Given the description of an element on the screen output the (x, y) to click on. 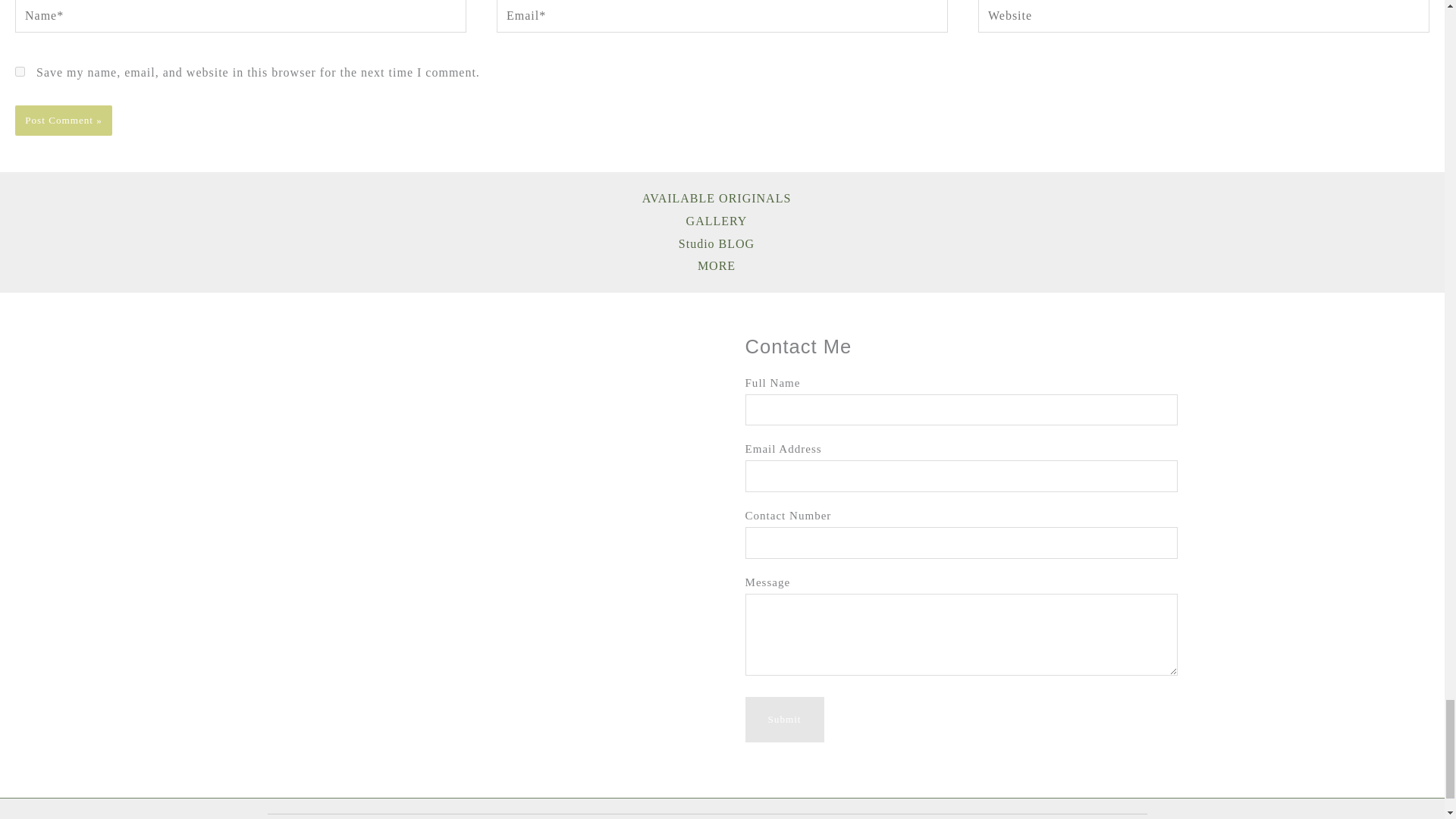
yes (19, 71)
Submit (784, 719)
